Given the description of an element on the screen output the (x, y) to click on. 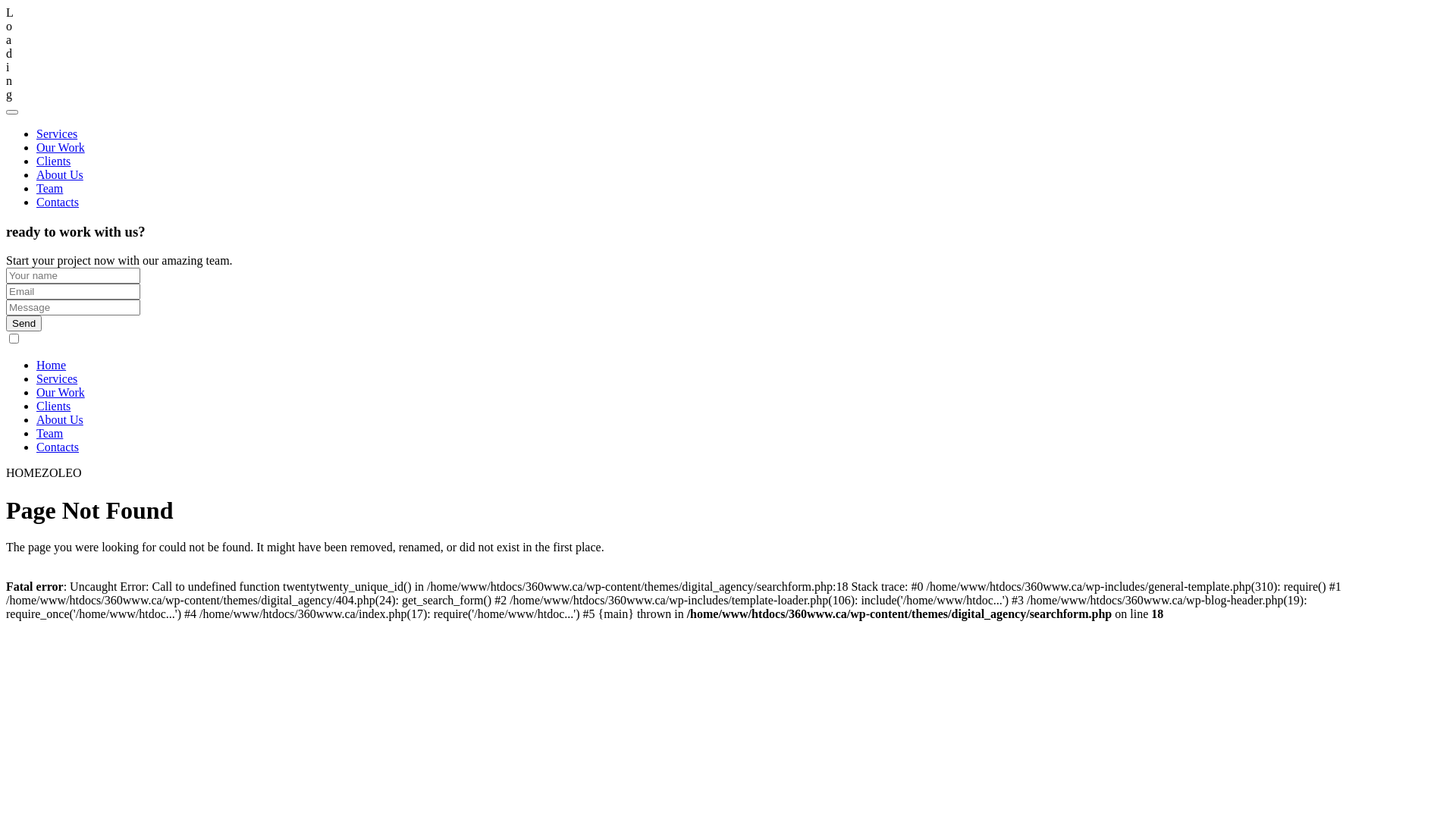
Team Element type: text (49, 432)
Clients Element type: text (53, 160)
Send Element type: text (23, 323)
About Us Element type: text (59, 419)
Clients Element type: text (53, 405)
Contacts Element type: text (57, 201)
Our Work Element type: text (60, 147)
About Us Element type: text (59, 174)
Home Element type: text (50, 364)
Our Work Element type: text (60, 391)
Services Element type: text (56, 133)
Services Element type: text (56, 378)
Team Element type: text (49, 188)
Contacts Element type: text (57, 446)
